Given the description of an element on the screen output the (x, y) to click on. 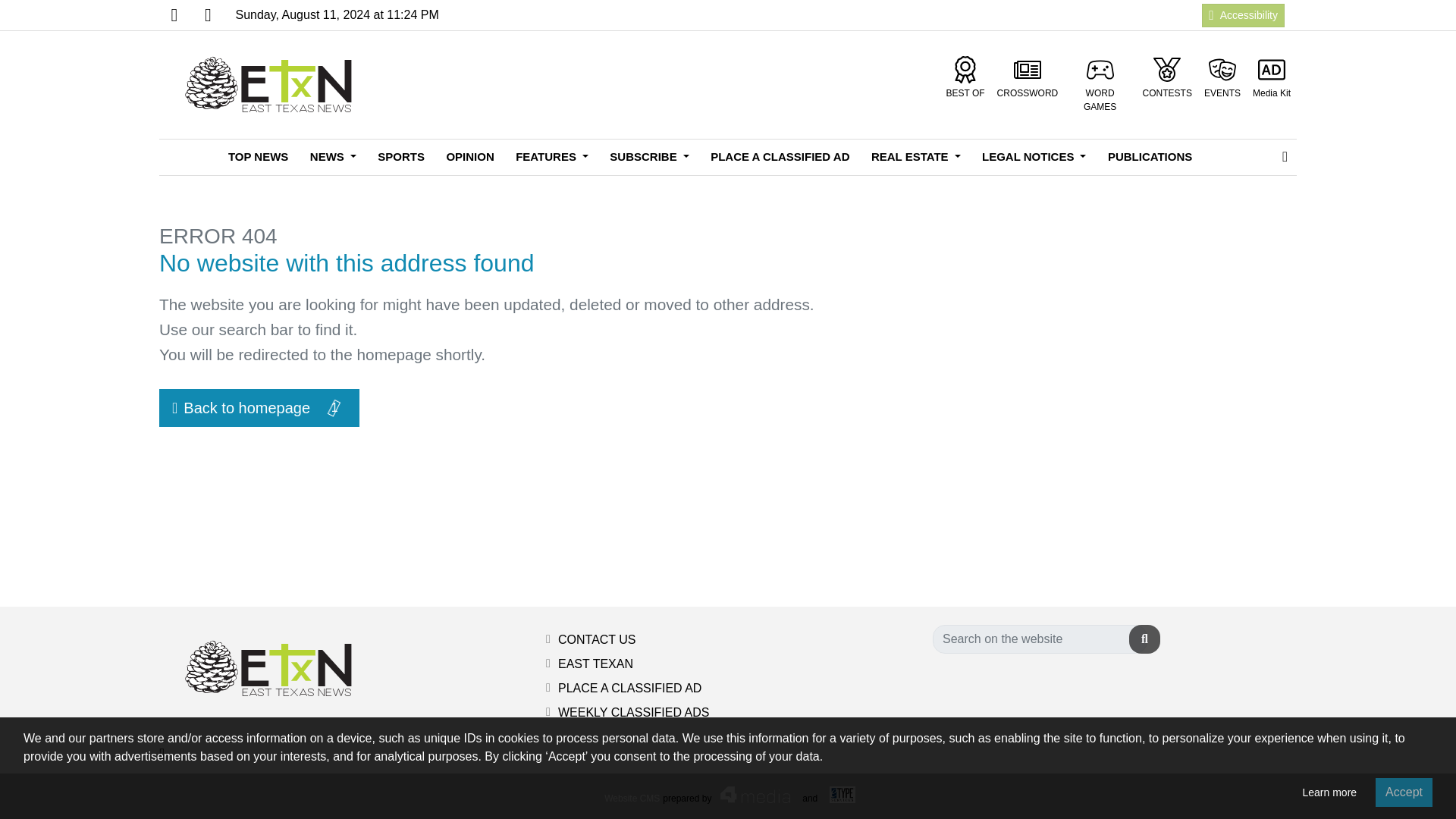
WORD GAMES (1100, 84)
CONTESTS (1167, 77)
Facebook.com (173, 15)
Accessibility (1243, 14)
CROSSWORDS (1027, 77)
FEATURES (551, 157)
Learn more (1328, 792)
CROSSWORDS (1027, 77)
SUBSCRIBE (648, 157)
REAL ESTATE (915, 157)
